Given the description of an element on the screen output the (x, y) to click on. 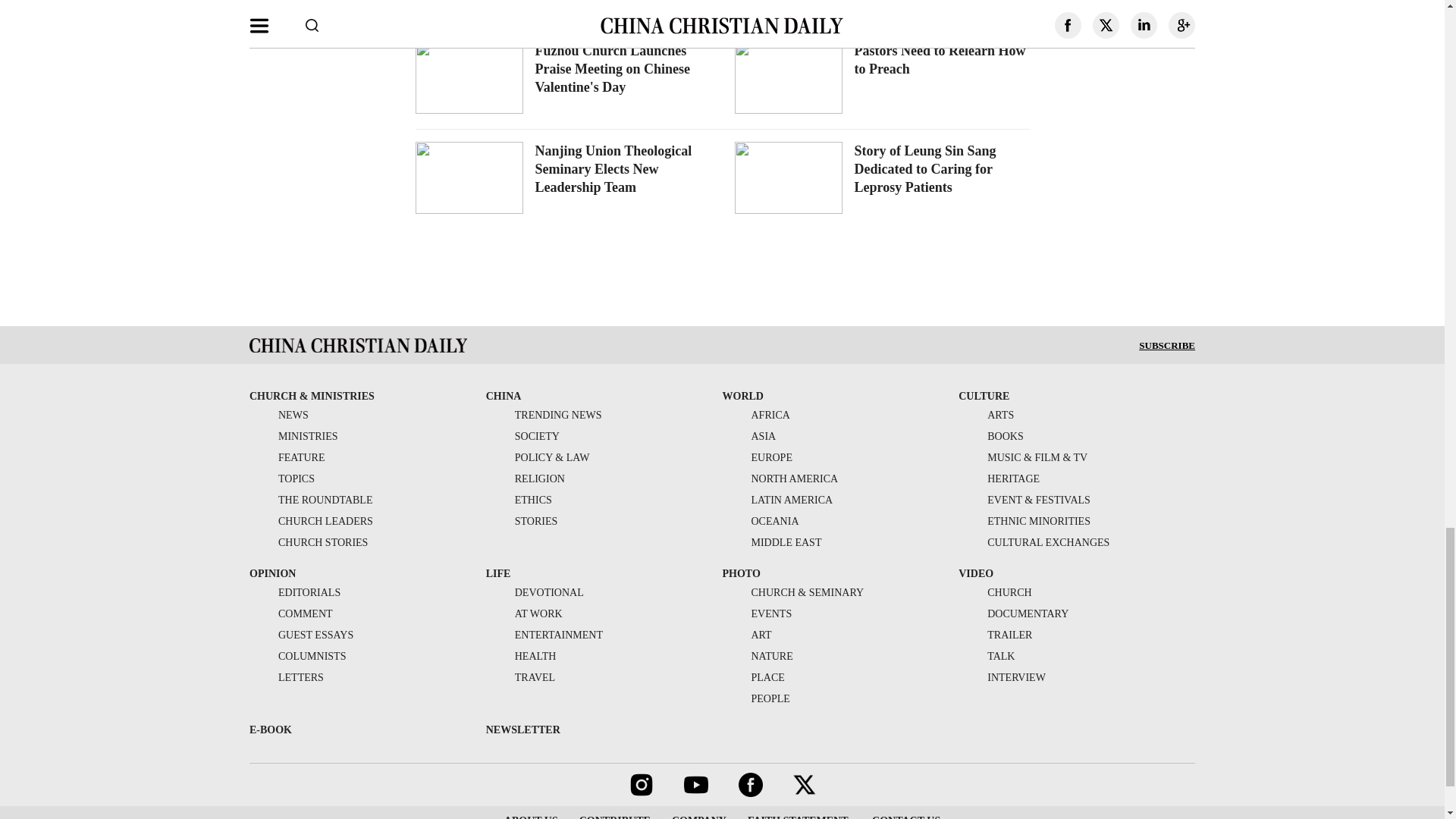
NEWS (278, 414)
MINISTRIES (292, 436)
FEATURE (286, 457)
Pastors Need to Relearn How to Preach (939, 59)
THE ROUNDTABLE (310, 500)
TOPICS (281, 478)
